Given the description of an element on the screen output the (x, y) to click on. 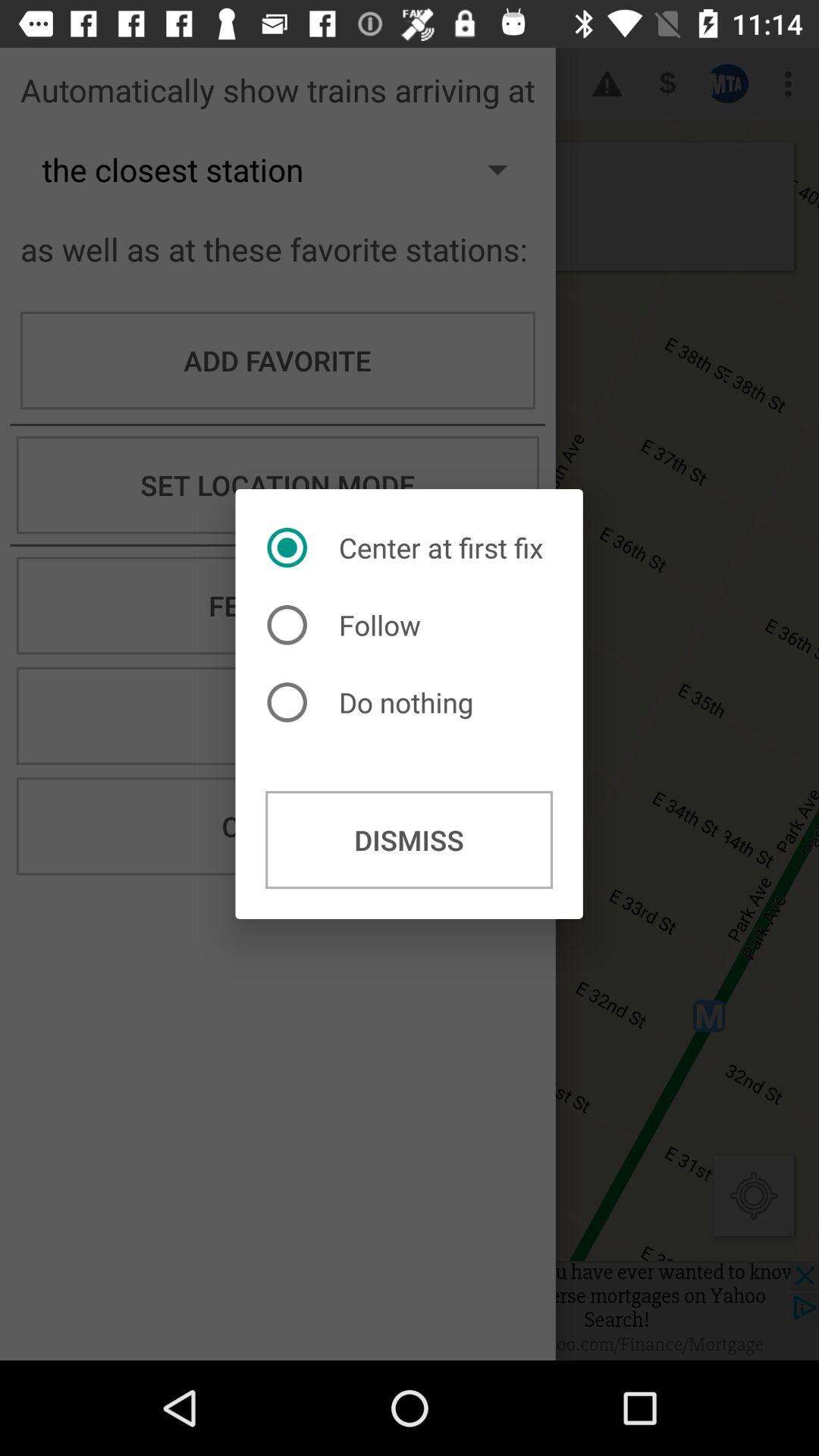
turn on the item below center at first icon (347, 624)
